Given the description of an element on the screen output the (x, y) to click on. 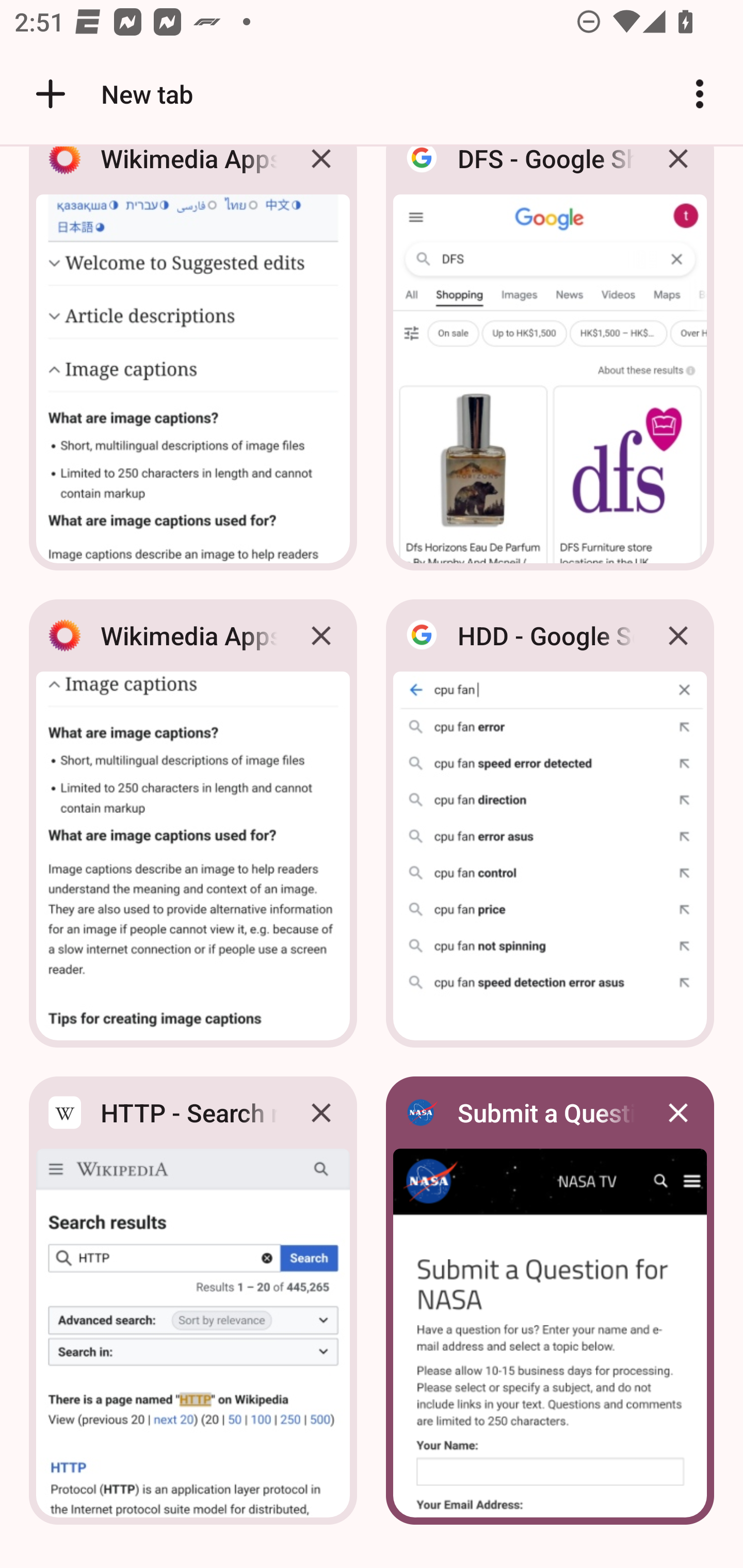
New tab (111, 93)
Customize and control Google Chrome (699, 93)
Close DFS - Google Shopping tab (677, 173)
Close HDD - Google Search tab (677, 635)
Close HTTP - Search results - Wikipedia tab (320, 1112)
Close Submit a Question for NASA | NASA tab (677, 1112)
